Given the description of an element on the screen output the (x, y) to click on. 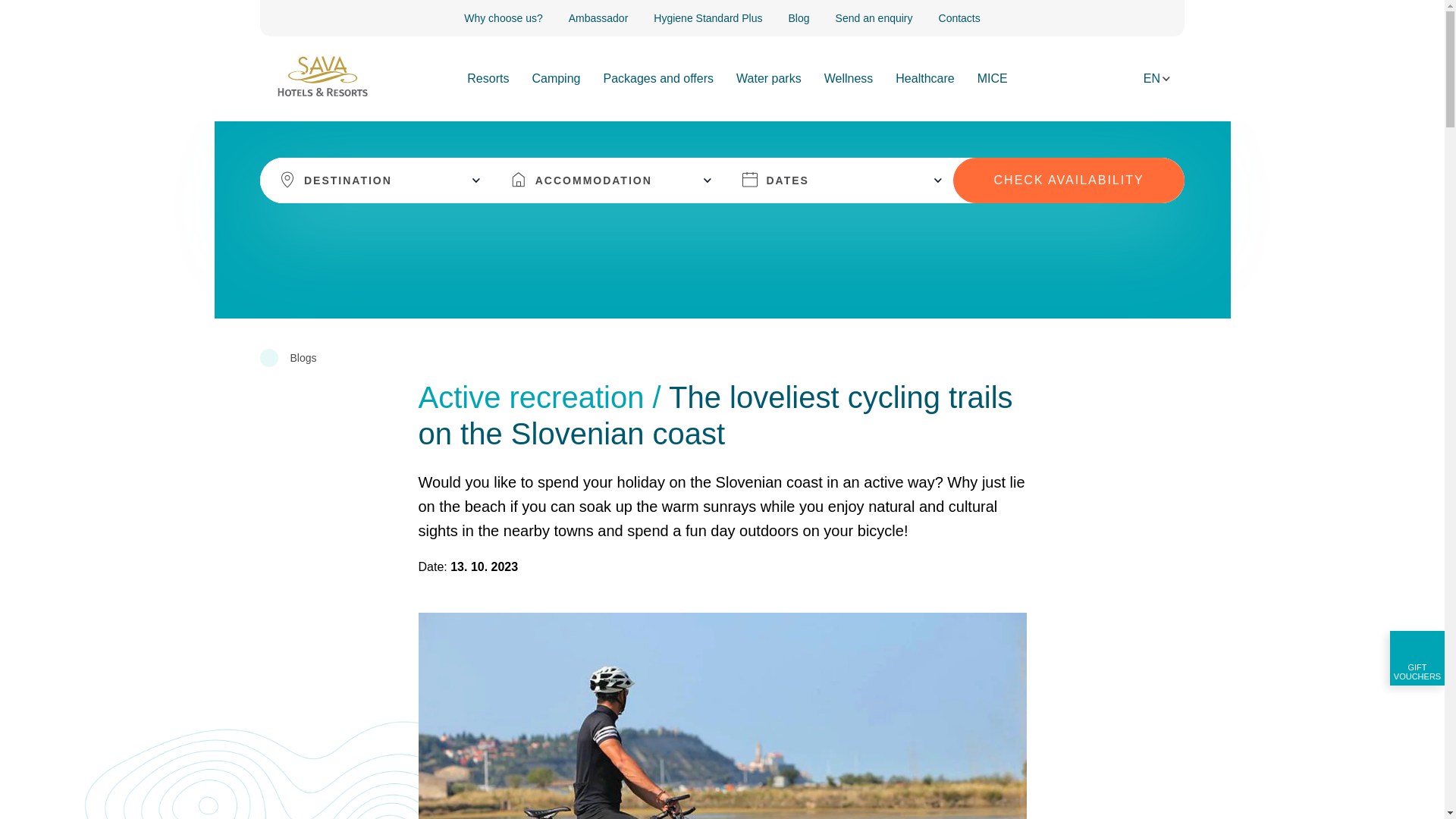
Wellness (848, 78)
Blog (799, 18)
Open search modal window (1118, 79)
Water parks (769, 78)
Contacts (964, 18)
Camping (555, 78)
Packages and offers (657, 78)
EN (1157, 78)
MICE (991, 78)
Ambassador (598, 18)
Send an enquiry (873, 18)
Healthcare (924, 78)
Why choose us? (503, 18)
Hygiene Standard Plus (707, 18)
Resorts (487, 78)
